Given the description of an element on the screen output the (x, y) to click on. 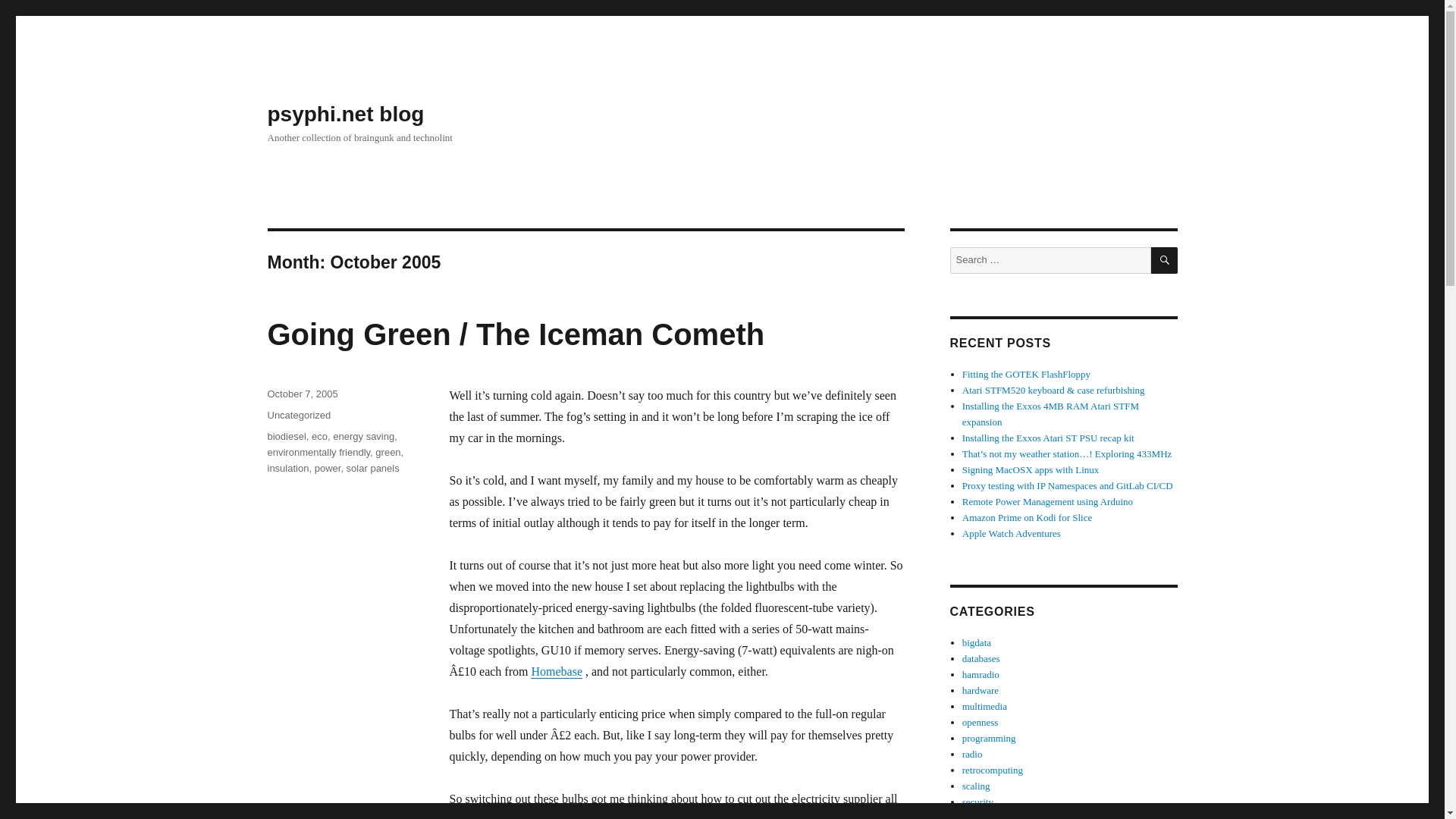
Apple Watch Adventures (1011, 532)
scaling (976, 785)
October 7, 2005 (301, 393)
bigdata (976, 642)
insulation (287, 468)
Amazon Prime on Kodi for Slice (1027, 517)
hamradio (980, 674)
environmentally friendly (317, 451)
solar panels (372, 468)
security (977, 801)
Signing MacOSX apps with Linux (1030, 469)
hardware (980, 690)
power (327, 468)
multimedia (984, 706)
Installing the Exxos Atari ST PSU recap kit (1048, 437)
